Given the description of an element on the screen output the (x, y) to click on. 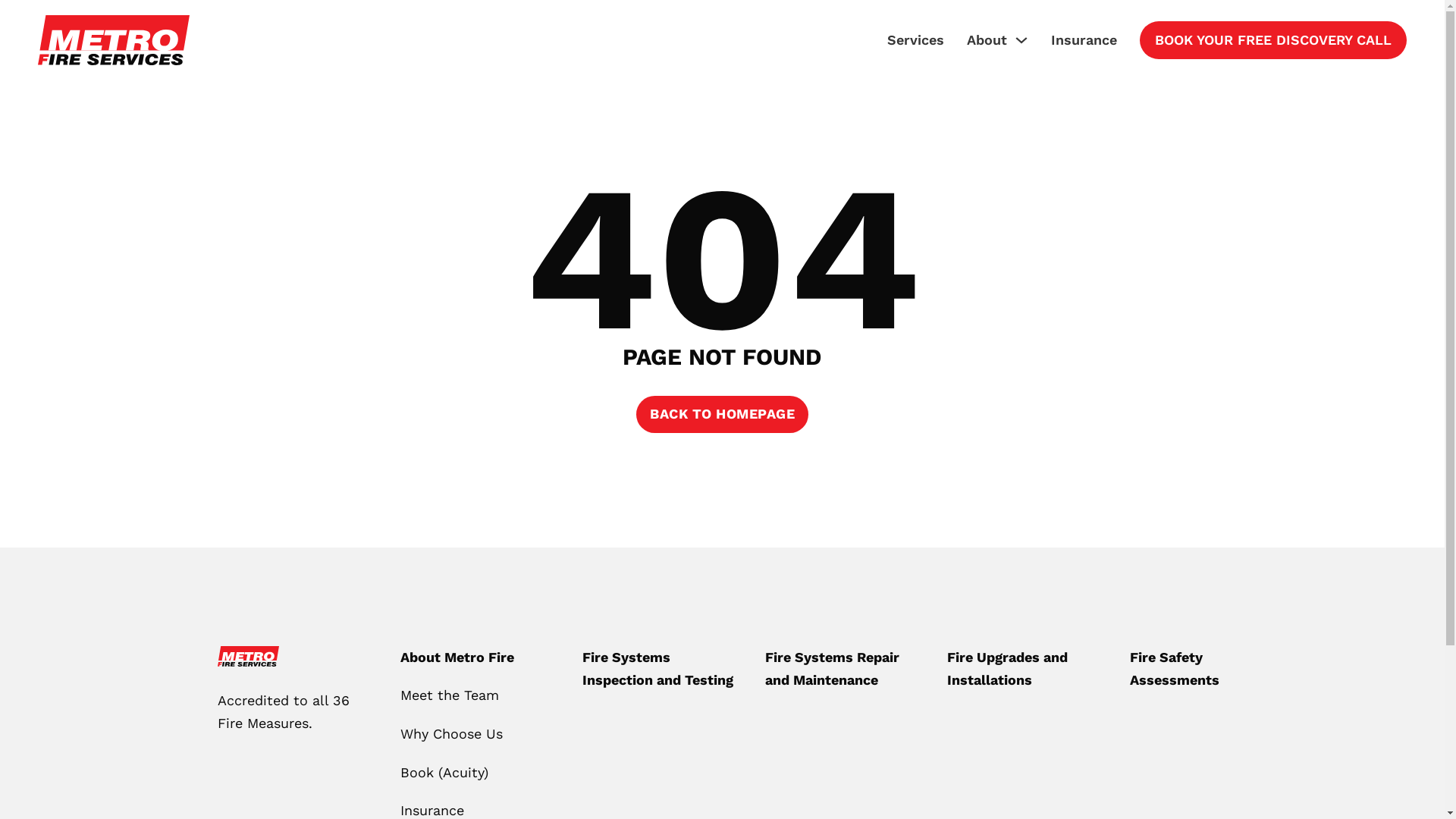
BACK TO HOMEPAGE Element type: text (722, 414)
Services Element type: text (915, 40)
Meet the Team Element type: text (453, 695)
Why Choose Us Element type: text (455, 734)
BOOK YOUR FREE DISCOVERY CALL Element type: text (1272, 40)
About Element type: text (986, 40)
Insurance Element type: text (1084, 40)
Book (Acuity) Element type: text (447, 772)
